Given the description of an element on the screen output the (x, y) to click on. 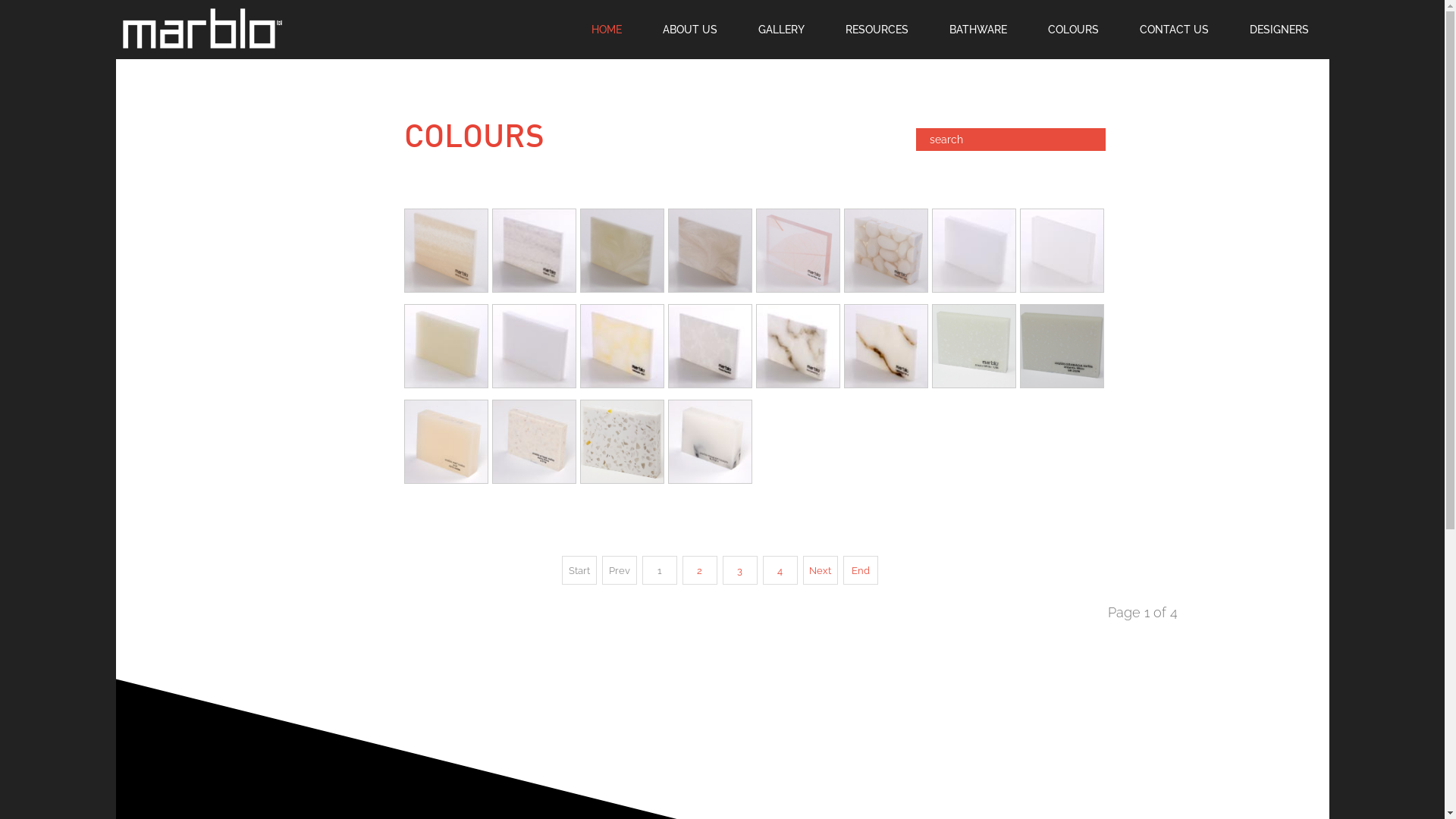
2 Element type: text (699, 569)
3 Element type: text (738, 569)
GALLERY Element type: text (780, 29)
DESIGNERS Element type: text (1278, 29)
Next Element type: text (819, 569)
COLOURS Element type: text (1072, 29)
ABOUT US Element type: text (689, 29)
End Element type: text (860, 569)
RESOURCES Element type: text (876, 29)
CONTACT US Element type: text (1174, 29)
BATHWARE Element type: text (977, 29)
4 Element type: text (779, 569)
HOME Element type: text (605, 29)
